Given the description of an element on the screen output the (x, y) to click on. 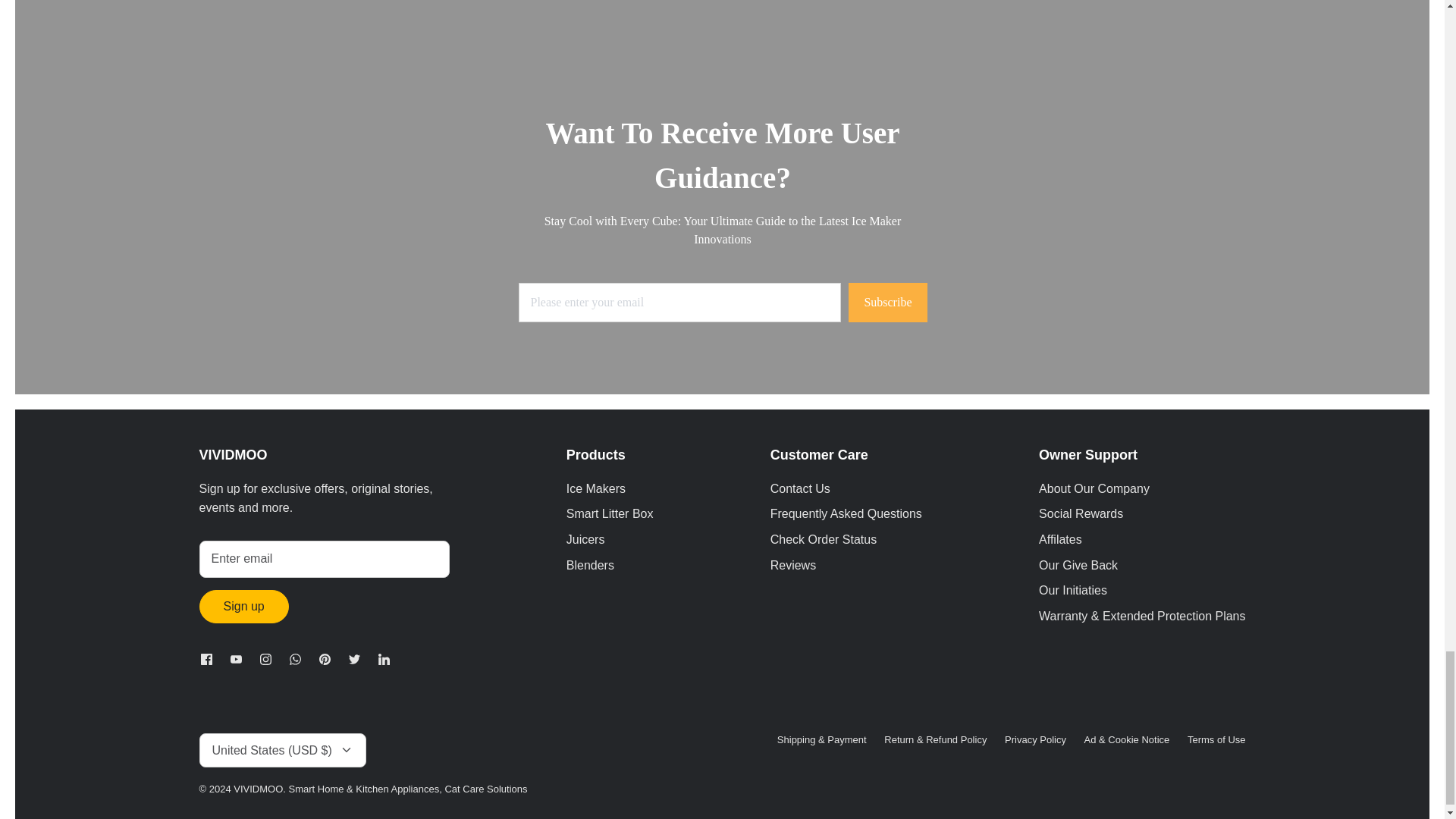
Youtube (235, 659)
Instagram (264, 659)
Twitter (354, 659)
Pinterest (324, 659)
Facebook (205, 659)
